Given the description of an element on the screen output the (x, y) to click on. 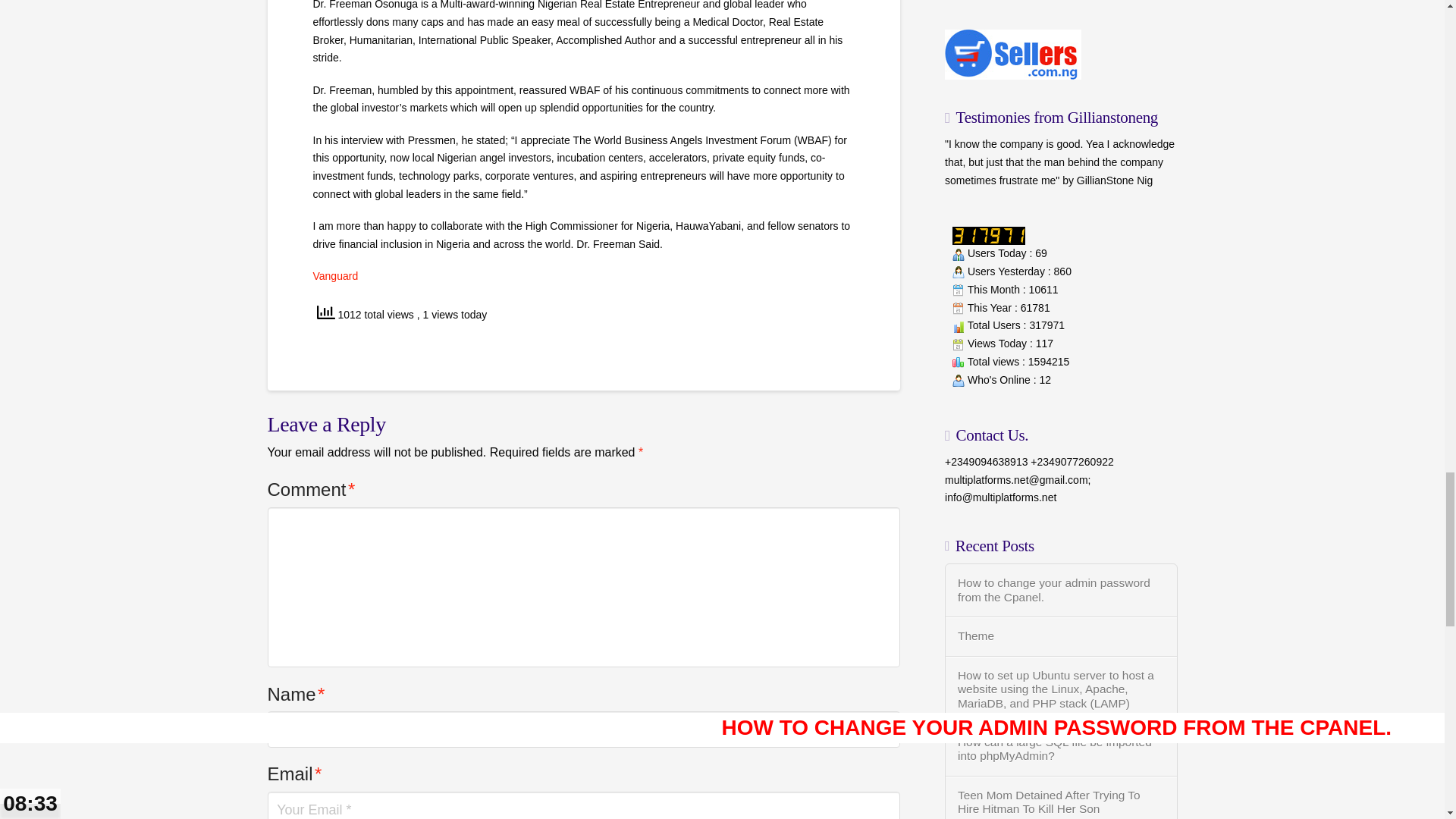
How to change your admin password from the Cpanel. (1061, 590)
Vanguard (335, 275)
Theme (1061, 636)
How can a large SQL file be imported into phpMyAdmin? (1061, 749)
